Given the description of an element on the screen output the (x, y) to click on. 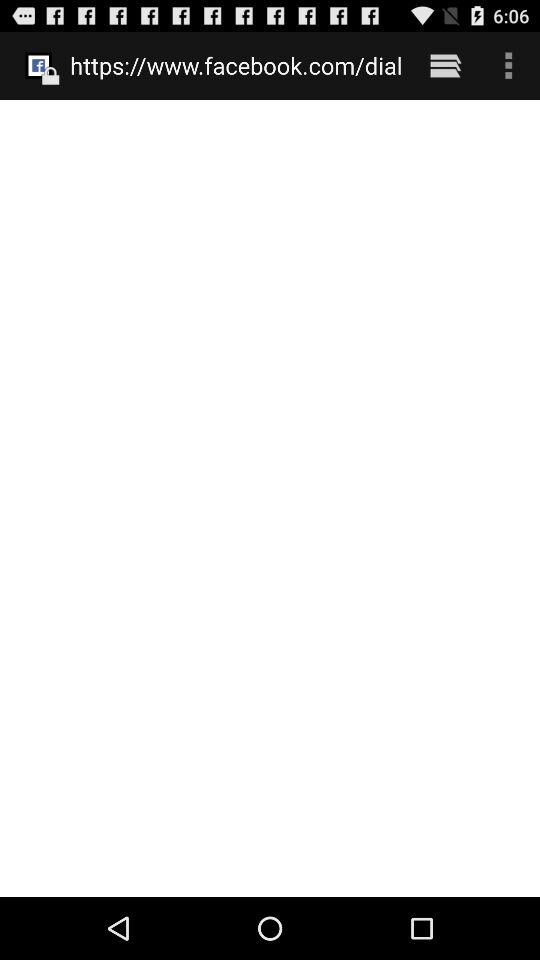
turn off the item at the top (235, 65)
